Given the description of an element on the screen output the (x, y) to click on. 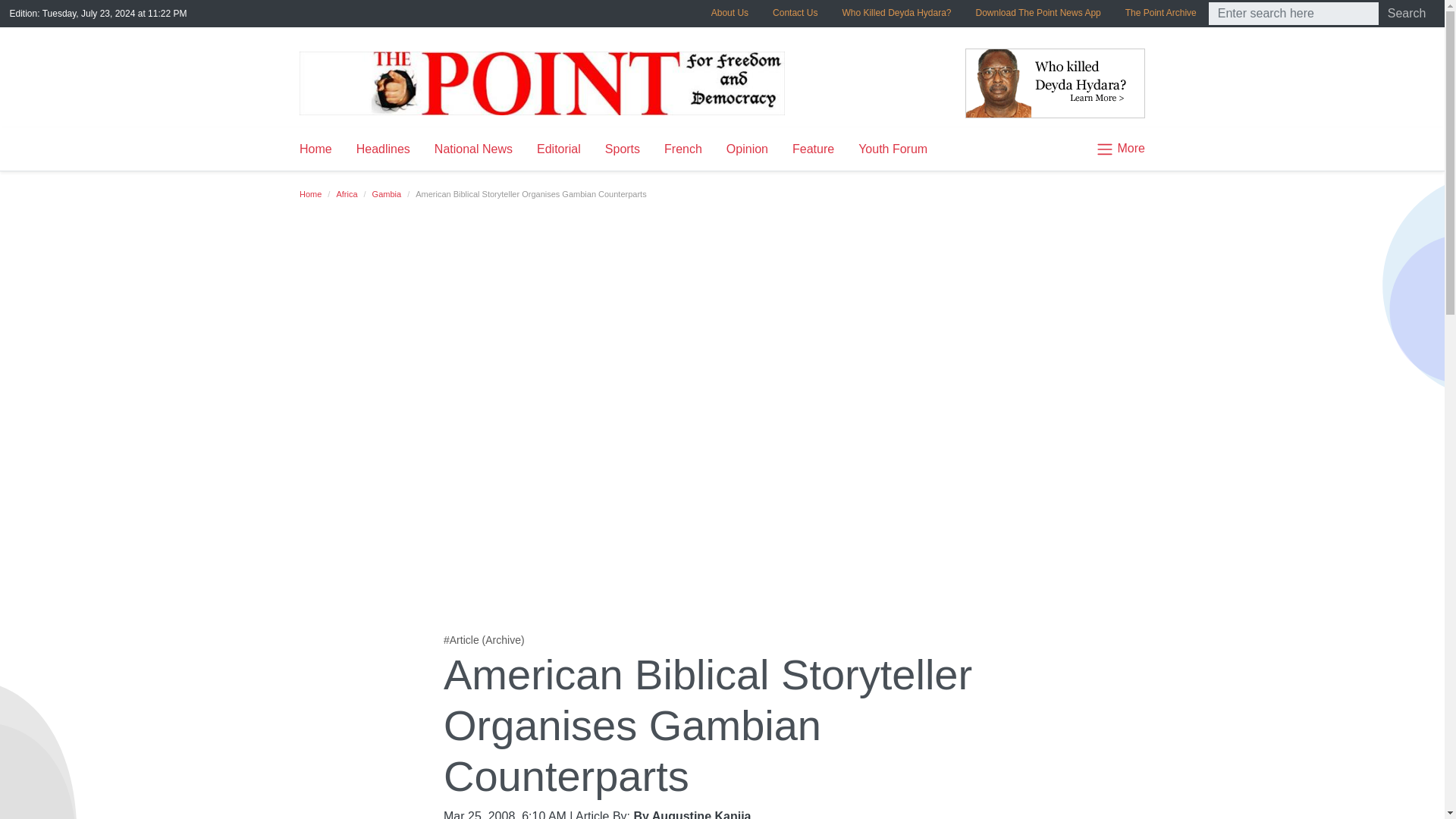
Editorial (558, 149)
Sports (622, 149)
Who Killed Deyda Hydara? (895, 12)
Home (310, 194)
Africa (346, 194)
Home (321, 149)
French (683, 149)
Contact Us (794, 12)
Opinion (747, 149)
National News (473, 149)
Search (1406, 13)
The Point Archive (1160, 12)
Gambia (386, 194)
More (1113, 148)
About Us (729, 12)
